Given the description of an element on the screen output the (x, y) to click on. 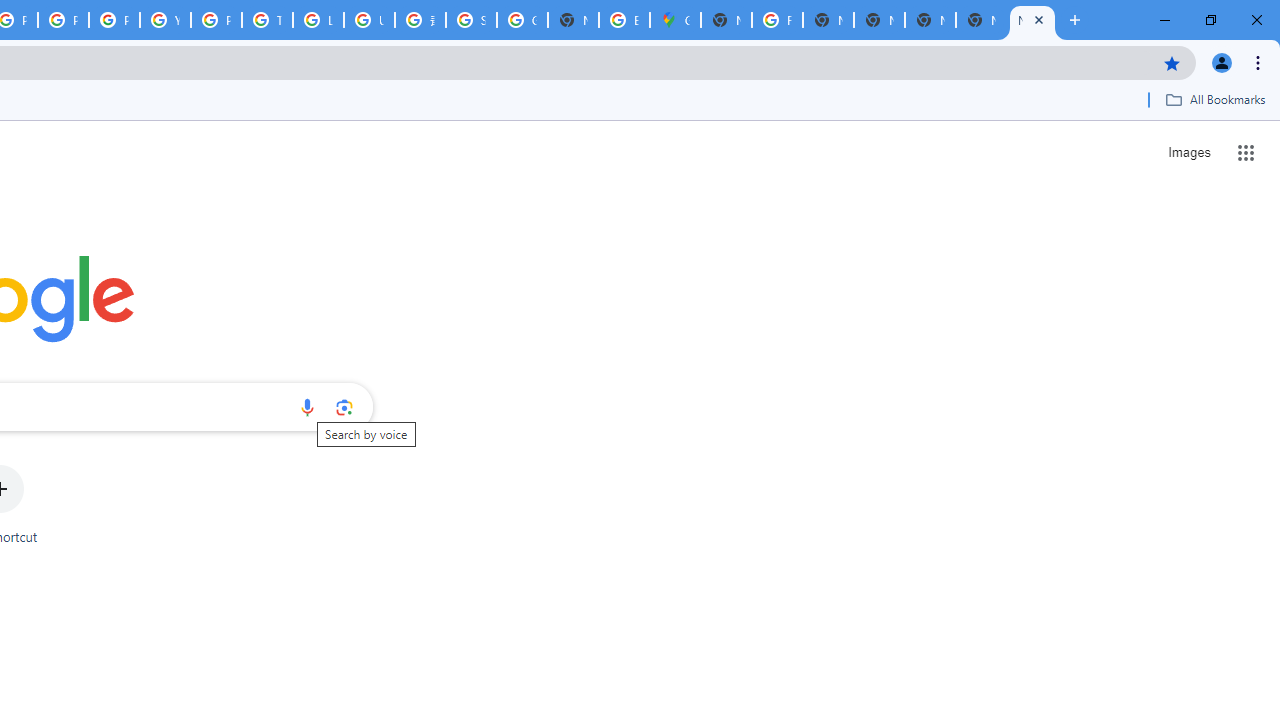
YouTube (164, 20)
New Tab (1032, 20)
Privacy Help Center - Policies Help (63, 20)
Explore new street-level details - Google Maps Help (624, 20)
New Tab (981, 20)
Google Maps (675, 20)
